Given the description of an element on the screen output the (x, y) to click on. 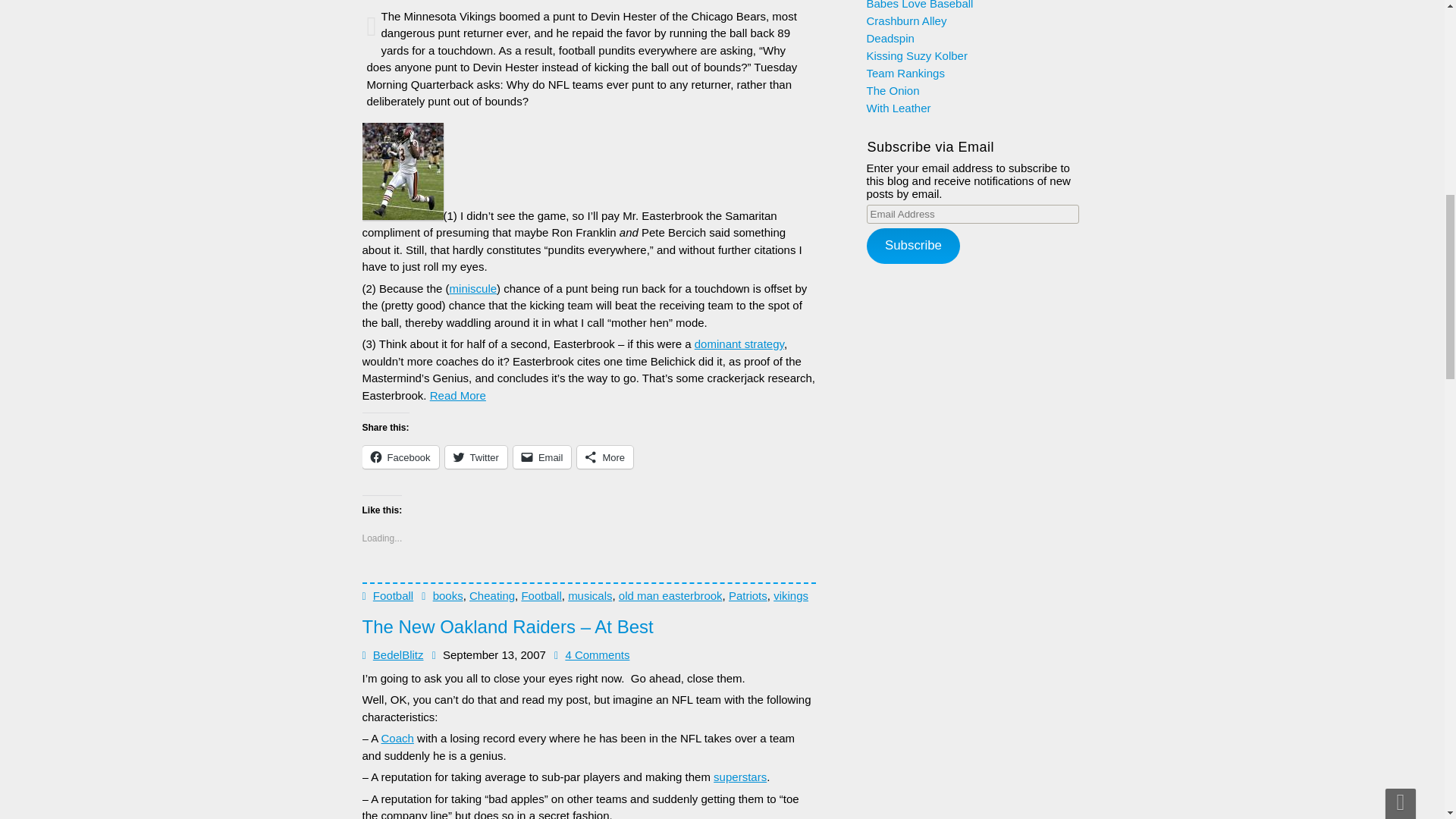
Email (542, 456)
dominant strategy (739, 343)
Click to share on Facebook (400, 456)
Click to share on Twitter (475, 456)
miniscule (473, 287)
Click to email a link to a friend (542, 456)
Twitter (475, 456)
More (604, 456)
Read More (457, 395)
